Given the description of an element on the screen output the (x, y) to click on. 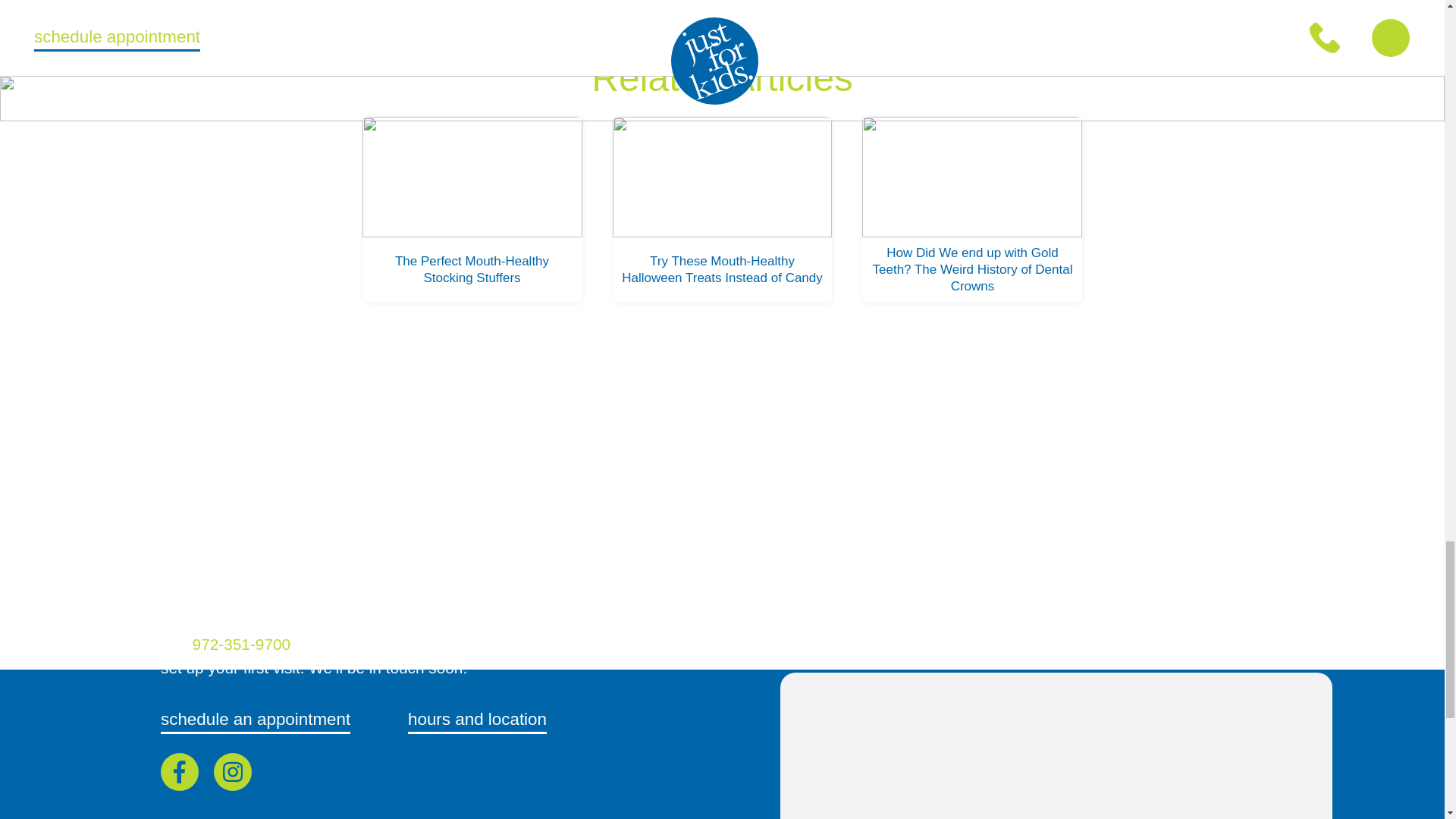
972-351-9700 (243, 643)
schedule an appointment (255, 720)
The Perfect Mouth-Healthy Stocking Stuffers (472, 209)
Try These Mouth-Healthy Halloween Treats Instead of Candy (722, 209)
hours and location (477, 720)
